Given the description of an element on the screen output the (x, y) to click on. 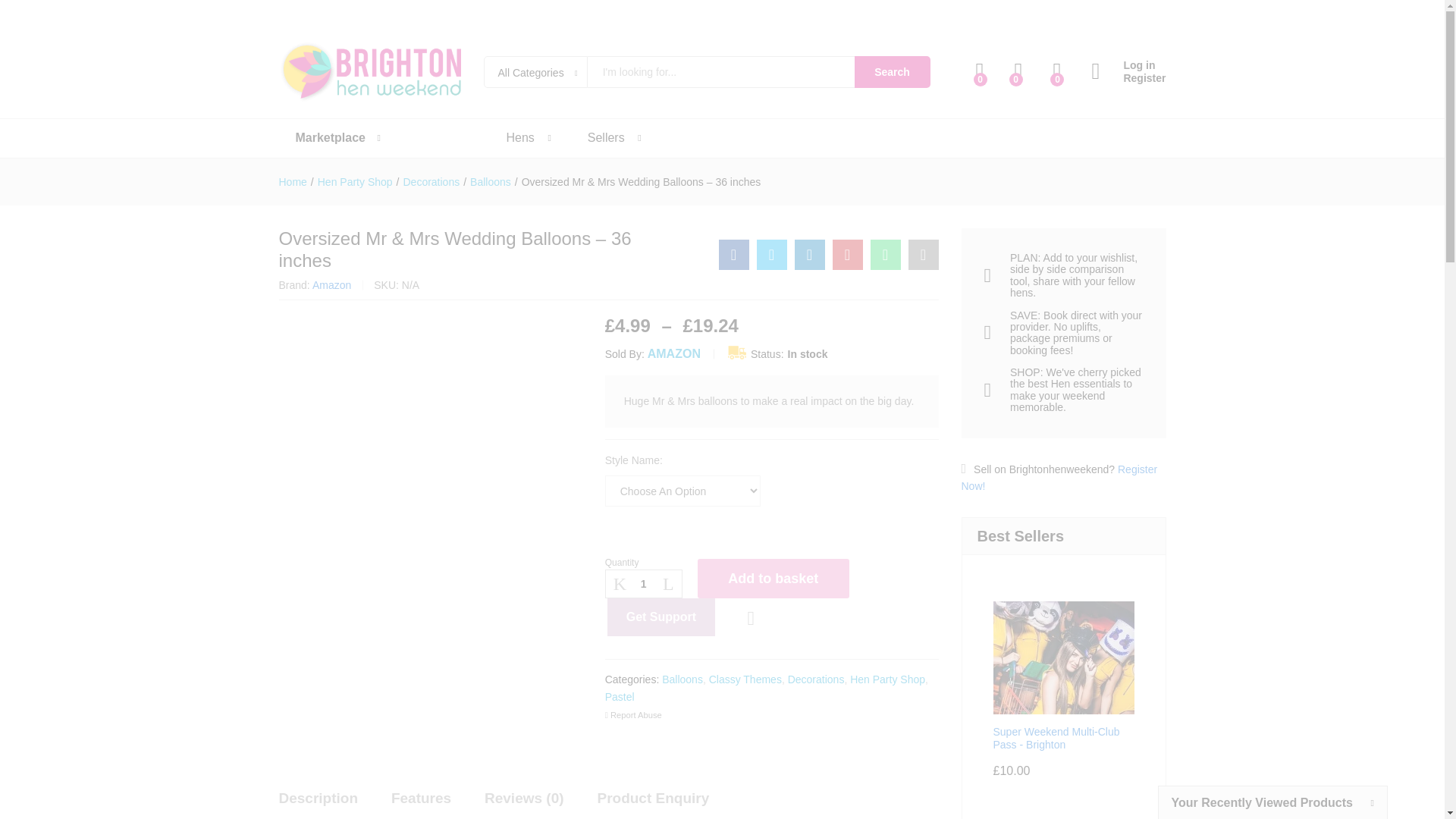
1 (643, 583)
Compare (750, 618)
Qty (643, 583)
Super Weekend Multi-Club Pass - Brighton (1063, 676)
